Given the description of an element on the screen output the (x, y) to click on. 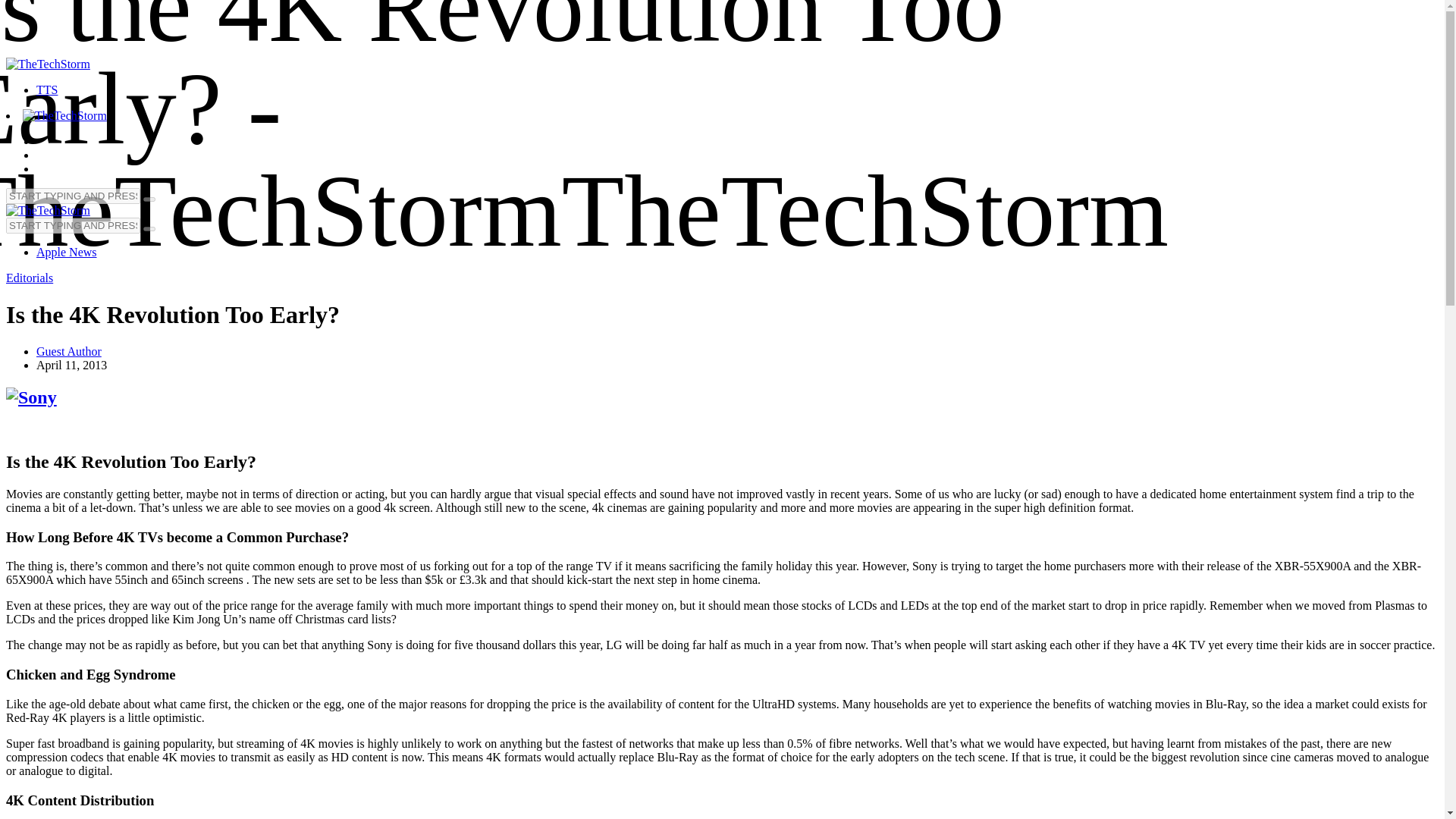
TheTechStorm (64, 115)
TheTechStorm (47, 63)
TheTechStorm (47, 209)
Editorials (28, 277)
Apple News (66, 251)
Posts by Guest Author (68, 350)
TTS (47, 89)
Guest Author (68, 350)
